Given the description of an element on the screen output the (x, y) to click on. 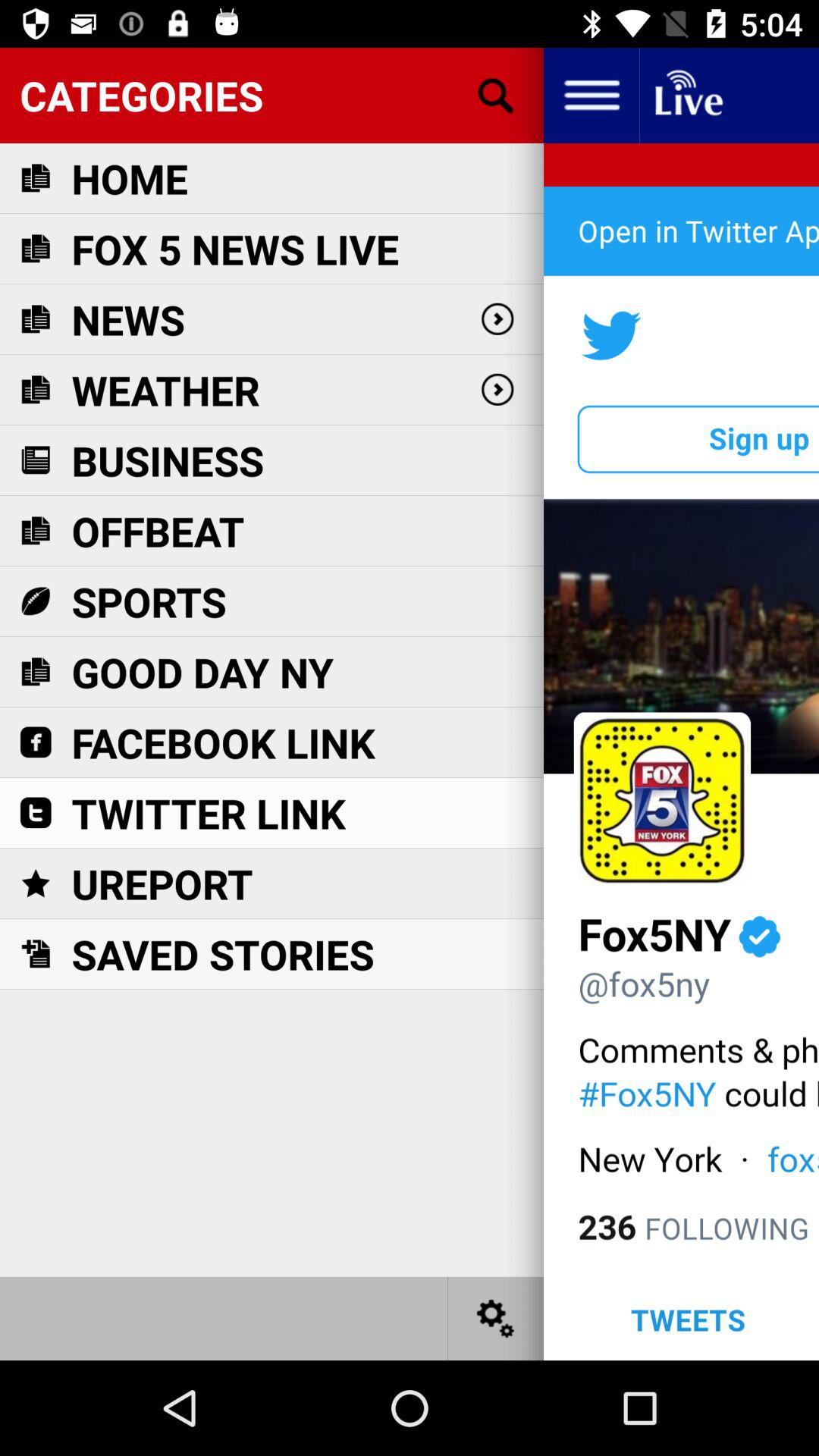
open menu (591, 95)
